Given the description of an element on the screen output the (x, y) to click on. 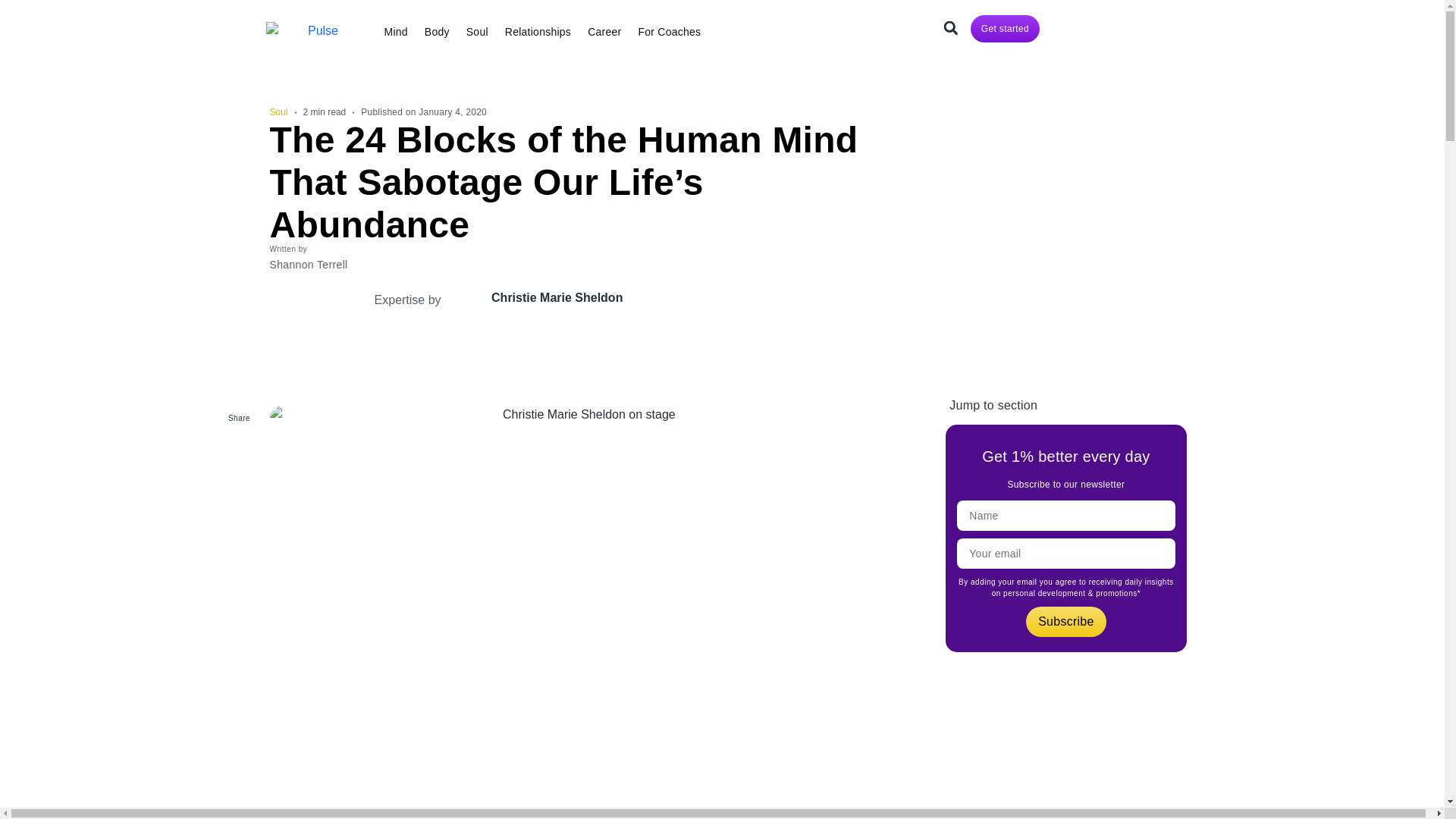
For Coaches (668, 31)
Body (437, 31)
Mind (395, 31)
Soul (477, 31)
Relationships (537, 31)
Career (603, 31)
